Given the description of an element on the screen output the (x, y) to click on. 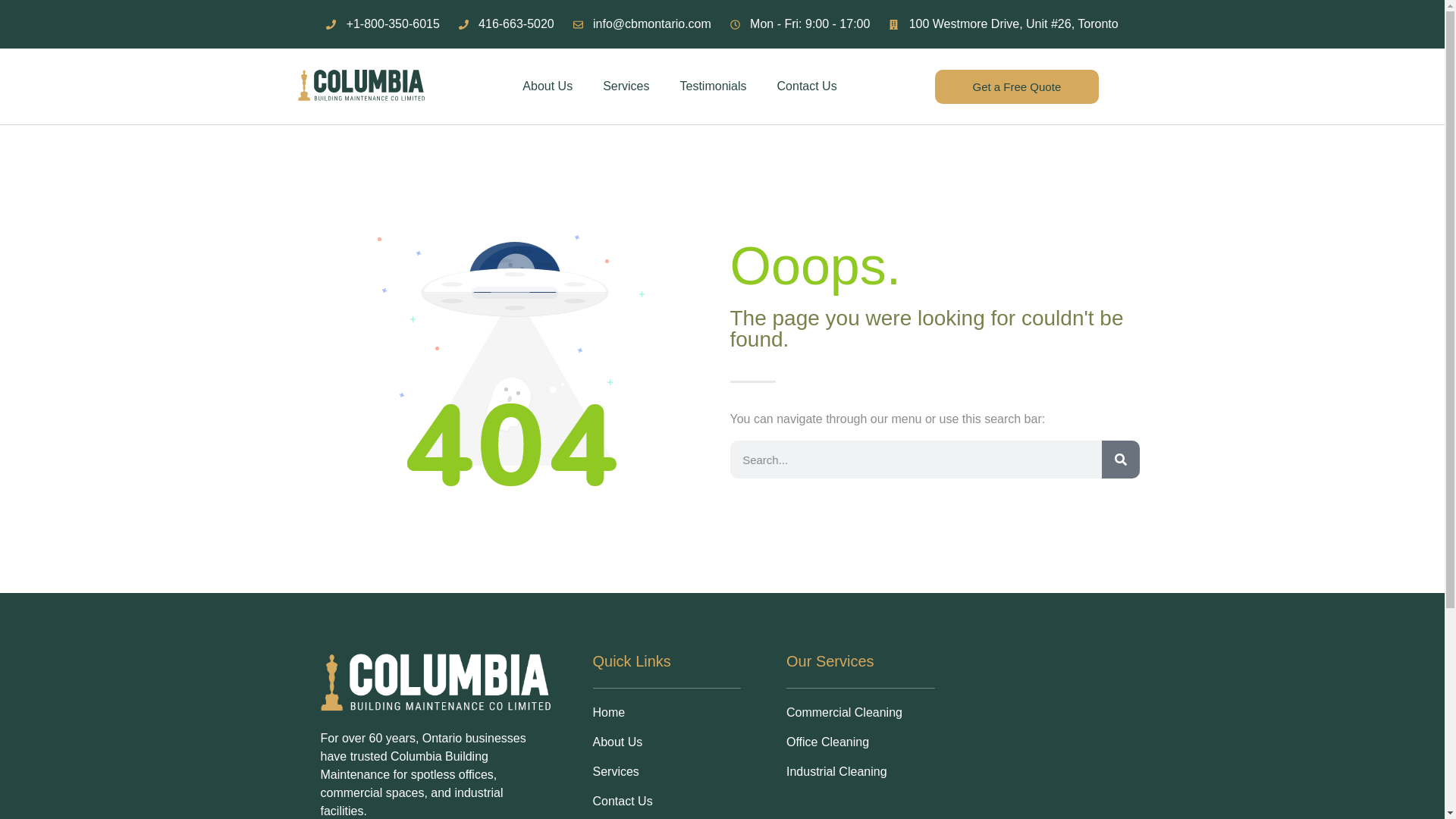
Industrial Cleaning (860, 771)
About Us (547, 85)
Testimonials (712, 85)
Home (666, 712)
Services (666, 771)
Services (625, 85)
Contact Us (666, 801)
Contact Us (806, 85)
Get a Free Quote (1016, 86)
Commercial Cleaning (860, 712)
About Us (666, 742)
Office Cleaning (860, 742)
416-663-5020 (506, 24)
